Given the description of an element on the screen output the (x, y) to click on. 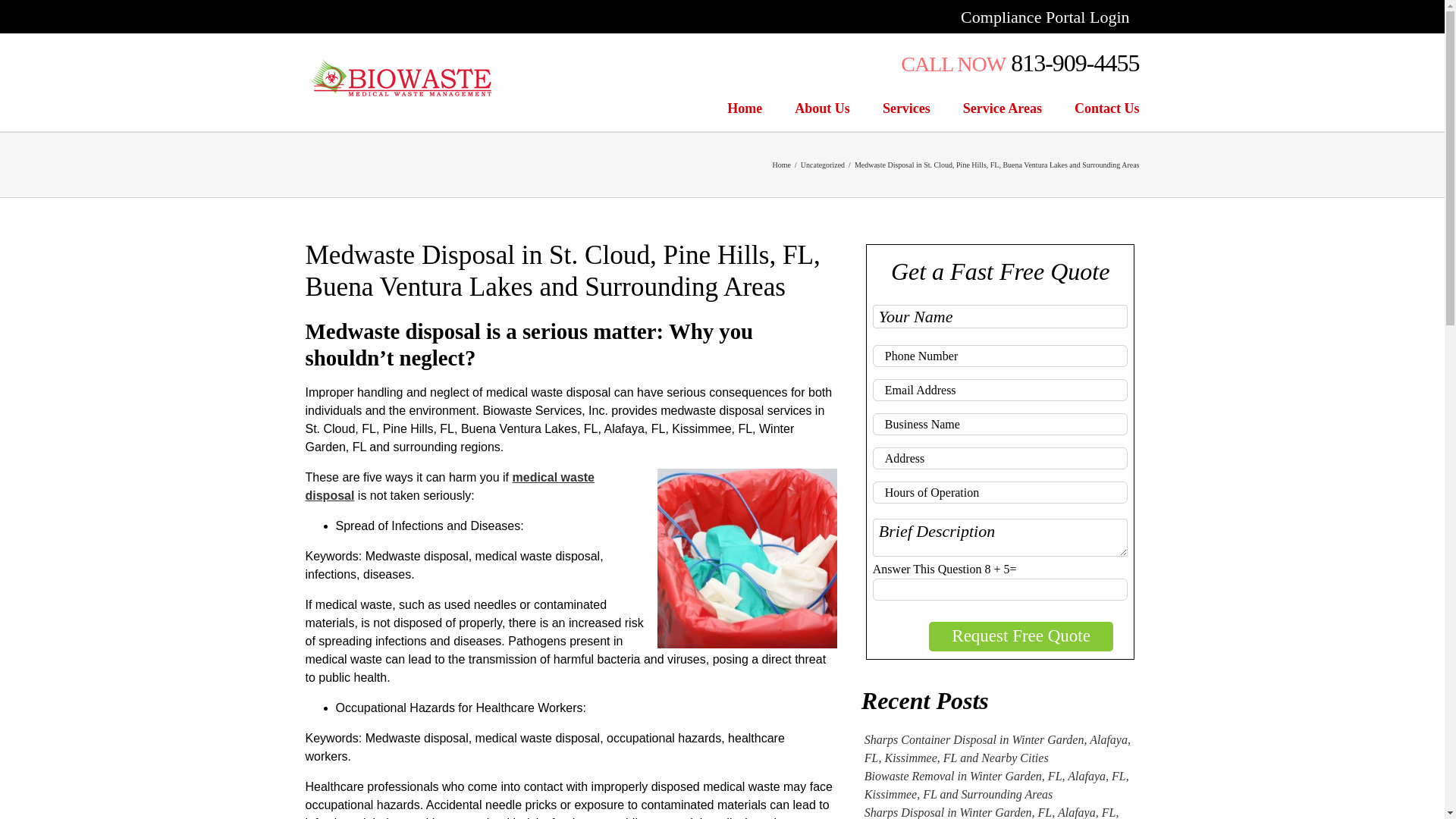
Service Areas (1002, 108)
Contact Us (1107, 108)
Home (743, 108)
Compliance Portal Login (1044, 16)
Uncategorized (822, 164)
Home (781, 164)
Services (906, 108)
CALL NOW 813-909-4455 (1019, 63)
